Given the description of an element on the screen output the (x, y) to click on. 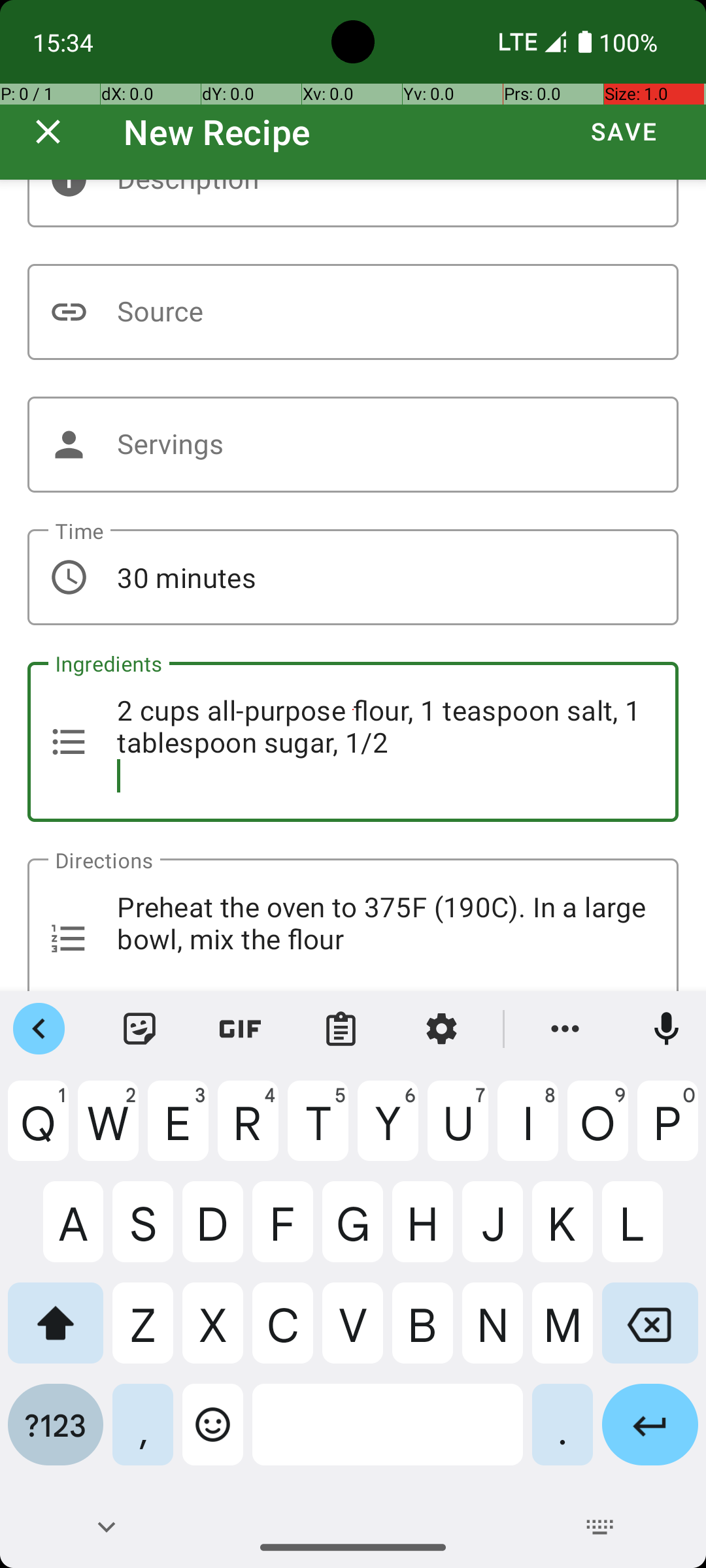
30 minutes Element type: android.widget.EditText (352, 577)
2 cups all-purpose flour, 1 teaspoon salt, 1 tablespoon sugar, 1/2
 Element type: android.widget.EditText (352, 741)
Preheat the oven to 375F (190C). In a large bowl, mix the flour
 Element type: android.widget.EditText (352, 924)
